Given the description of an element on the screen output the (x, y) to click on. 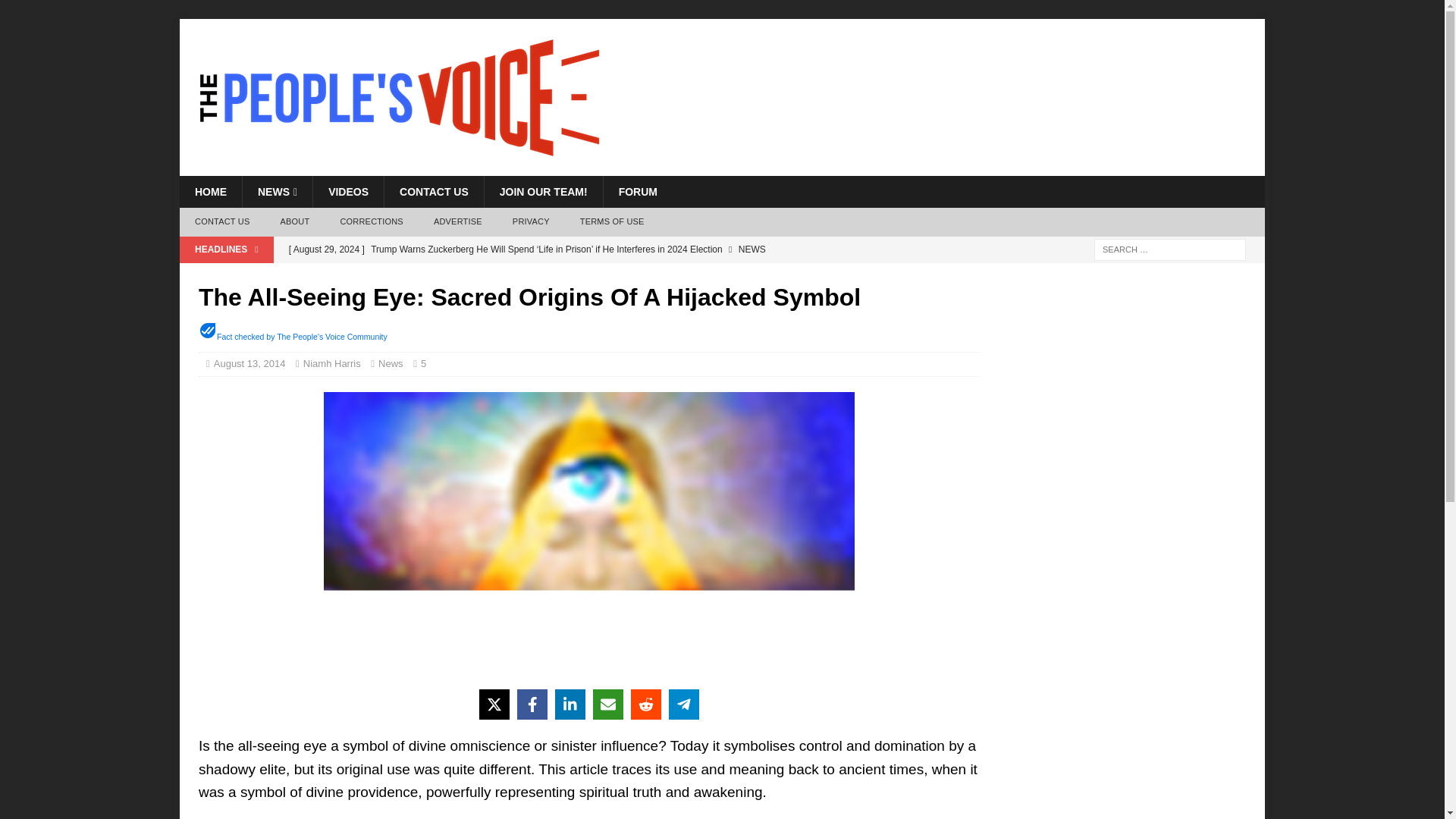
August 13, 2014 (249, 363)
CONTACT US (433, 192)
News (390, 363)
PRIVACY (530, 222)
NEWS (277, 192)
ADVERTISE (458, 222)
HOME (210, 192)
Niamh Harris (331, 363)
CORRECTIONS (370, 222)
TERMS OF USE (611, 222)
